Given the description of an element on the screen output the (x, y) to click on. 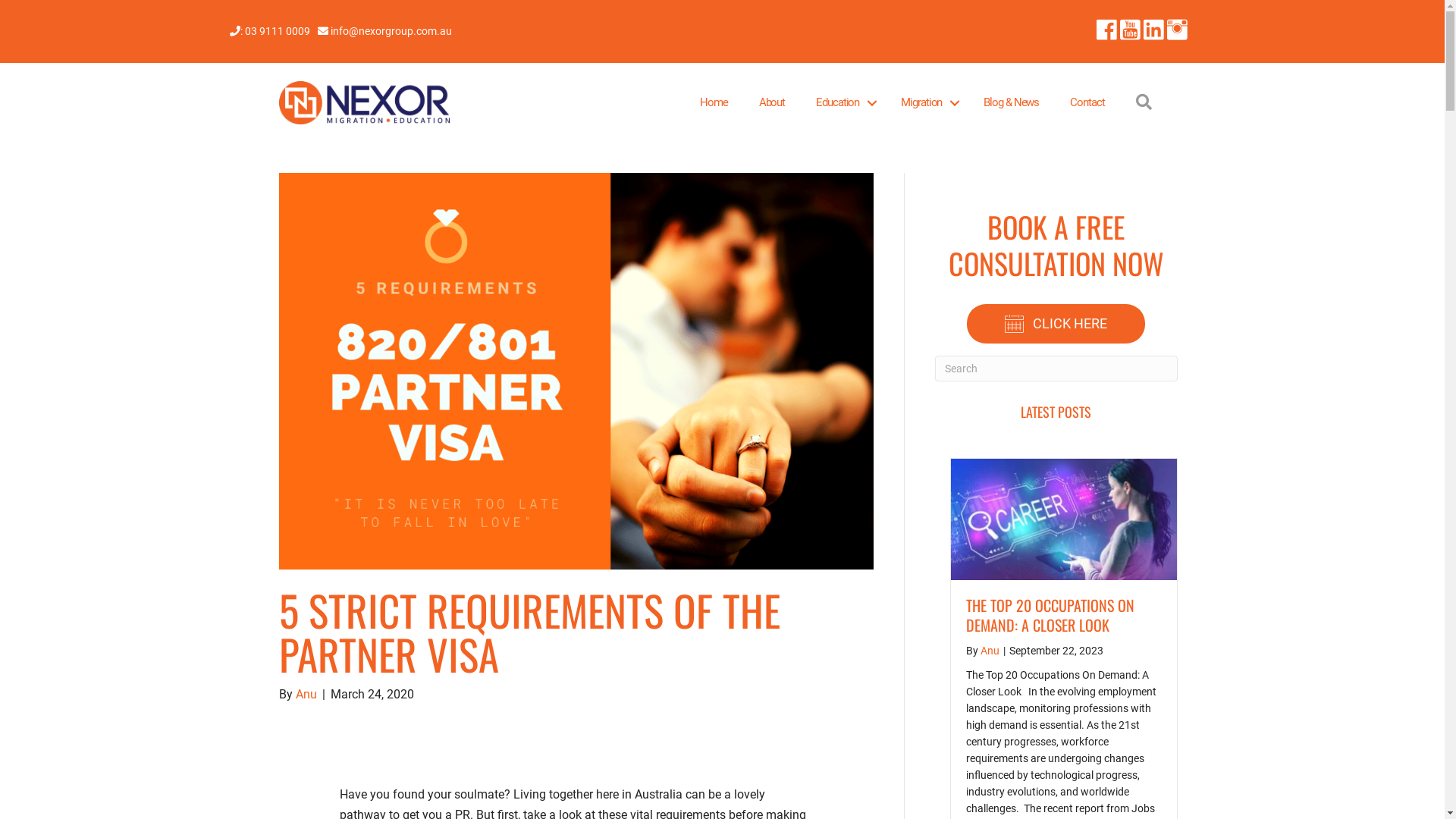
The Top 20 Occupations On Demand: A Closer Look Element type: hover (1063, 518)
Migration Element type: text (926, 103)
info@nexorgroup.com.au Element type: text (389, 31)
Type and press Enter to search. Element type: hover (1055, 368)
Anu Element type: text (305, 694)
CLICK HERE Element type: text (1055, 323)
About Element type: text (771, 103)
Blog & News Element type: text (1011, 103)
Education Element type: text (842, 103)
THE TOP 20 OCCUPATIONS ON DEMAND: A CLOSER LOOK Element type: text (1050, 614)
Home Element type: text (713, 103)
Nexor Logo Retina Element type: hover (364, 102)
Anu Element type: text (988, 650)
Contact Element type: text (1086, 103)
: 03 9111 0009 Element type: text (284, 31)
